Given the description of an element on the screen output the (x, y) to click on. 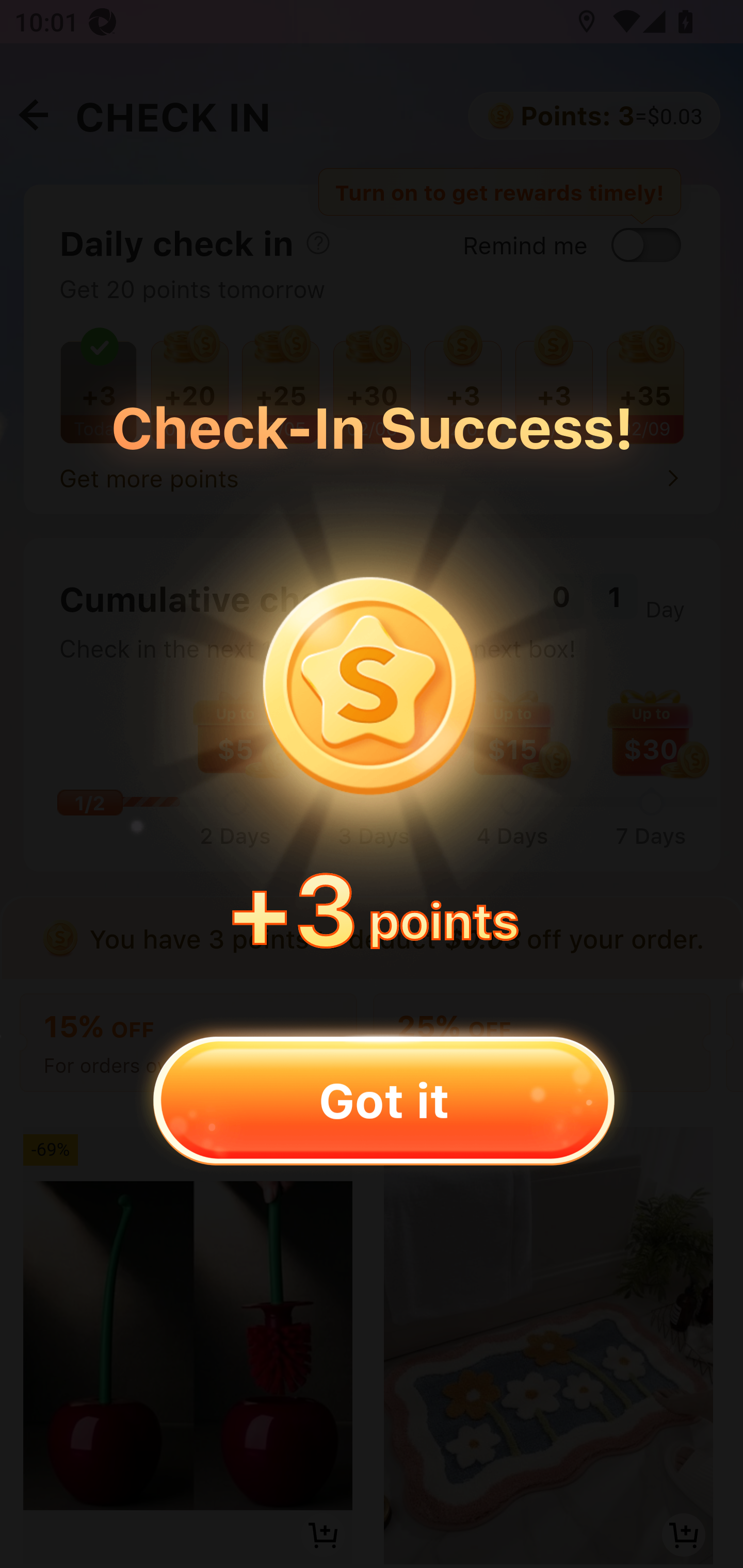
Got it (383, 1099)
